Given the description of an element on the screen output the (x, y) to click on. 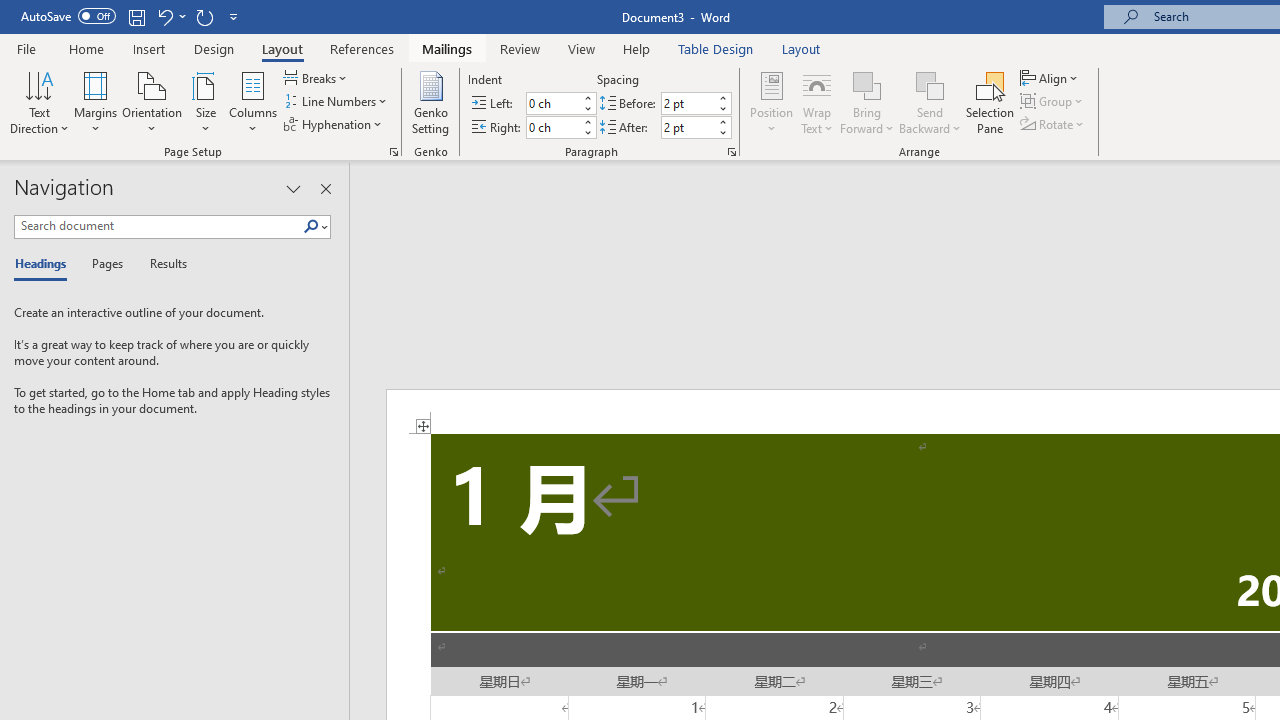
Paragraph... (731, 151)
Search (315, 227)
Hyphenation (334, 124)
Repeat Doc Close (204, 15)
Line Numbers (337, 101)
Genko Setting... (430, 102)
Indent Right (552, 127)
Size (205, 102)
Search document (157, 226)
Insert (149, 48)
Undo Increase Indent (170, 15)
Rotate (1053, 124)
Send Backward (930, 102)
